Given the description of an element on the screen output the (x, y) to click on. 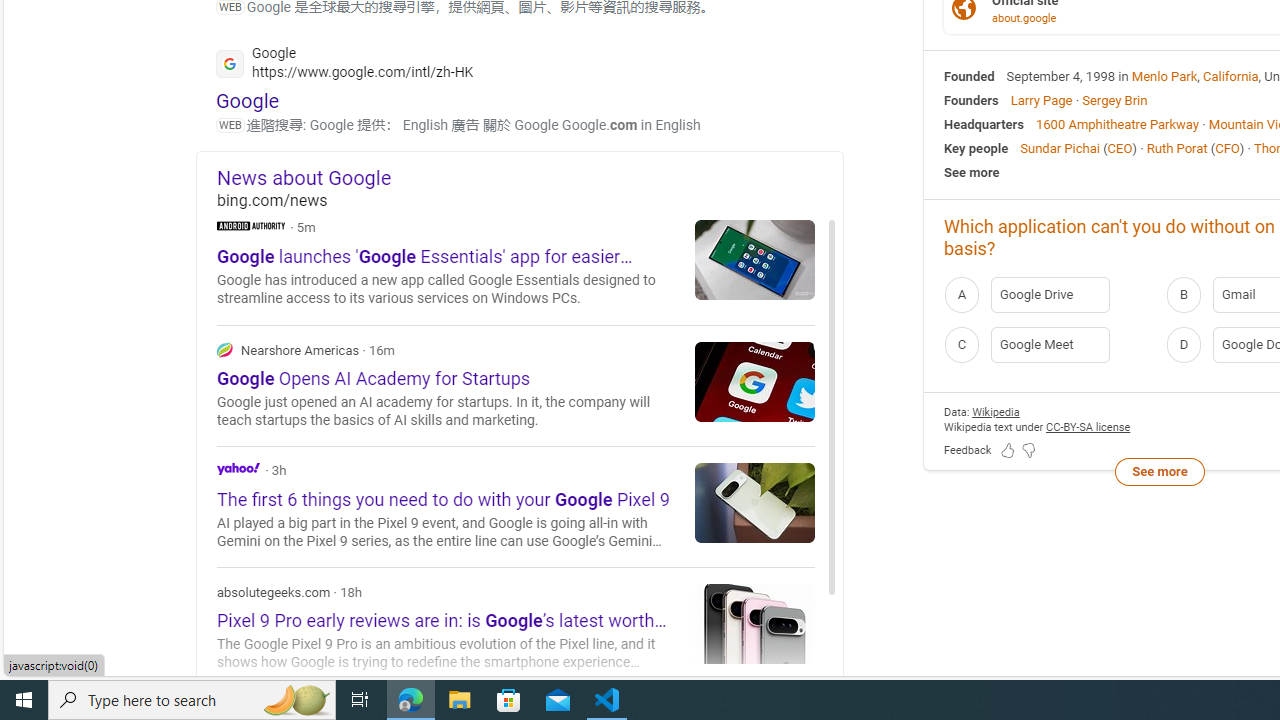
Menlo Park (1164, 75)
Ruth Porat (1176, 147)
Yahoo (516, 506)
CC-BY-SA license (1088, 426)
Data attribution Wikipedia (995, 411)
Sergey Brin (1114, 100)
Key people (976, 147)
Feedback Like (1007, 450)
Sundar Pichai (1059, 147)
California (1231, 75)
Feedback Dislike (1028, 450)
Yahoo (238, 468)
